Given the description of an element on the screen output the (x, y) to click on. 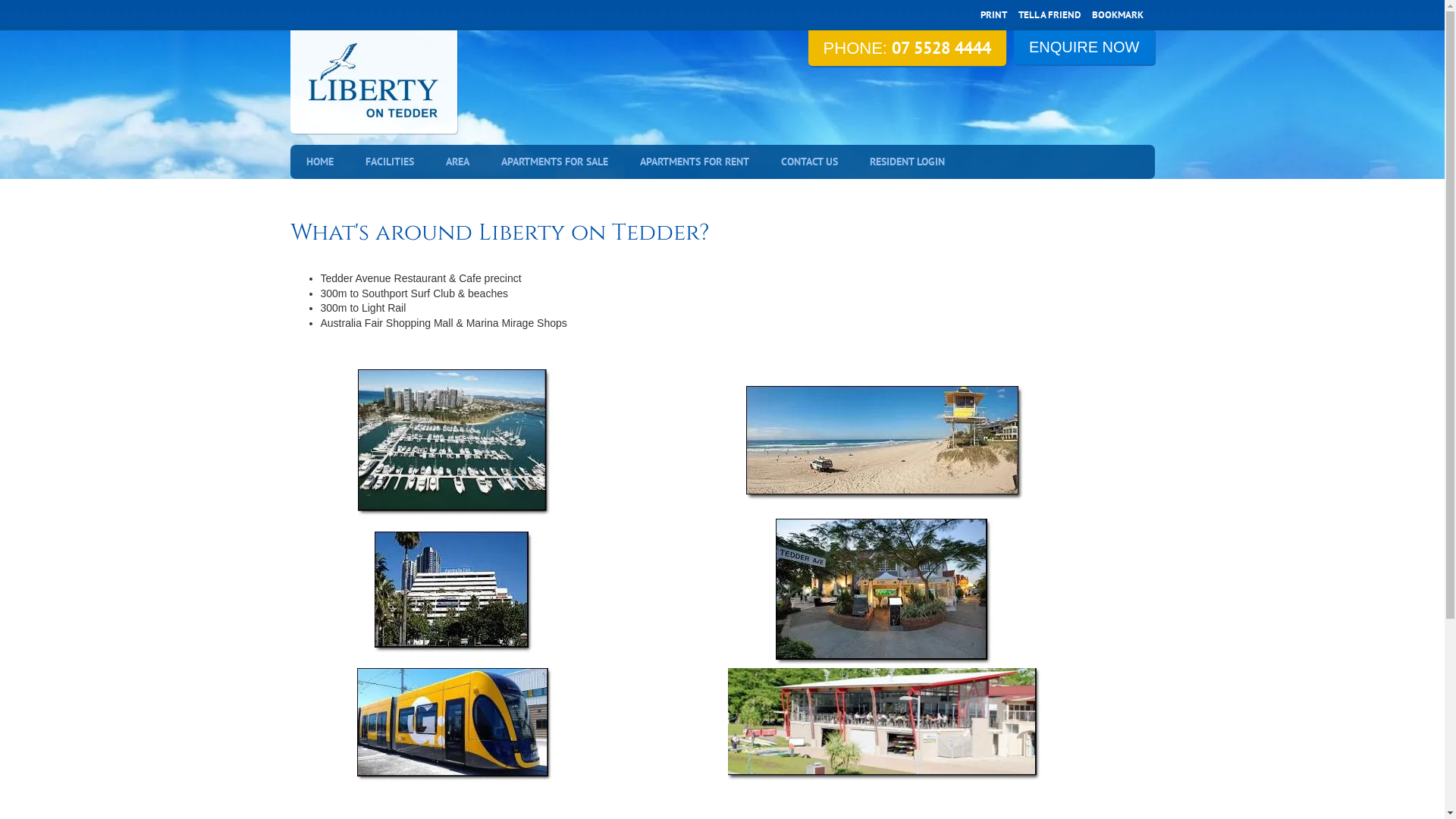
BOOKMARK Element type: text (1117, 14)
TELL A FRIEND Element type: text (1048, 14)
CONTACT US Element type: text (808, 161)
FACILITIES Element type: text (389, 161)
APARTMENTS FOR RENT Element type: text (693, 161)
APARTMENTS FOR SALE Element type: text (554, 161)
PHONE: 07 5528 4444 Element type: text (907, 47)
HOME Element type: text (318, 161)
PRINT Element type: text (992, 14)
AREA Element type: text (456, 161)
RESIDENT LOGIN Element type: text (907, 161)
ENQUIRE NOW Element type: text (1083, 47)
